Given the description of an element on the screen output the (x, y) to click on. 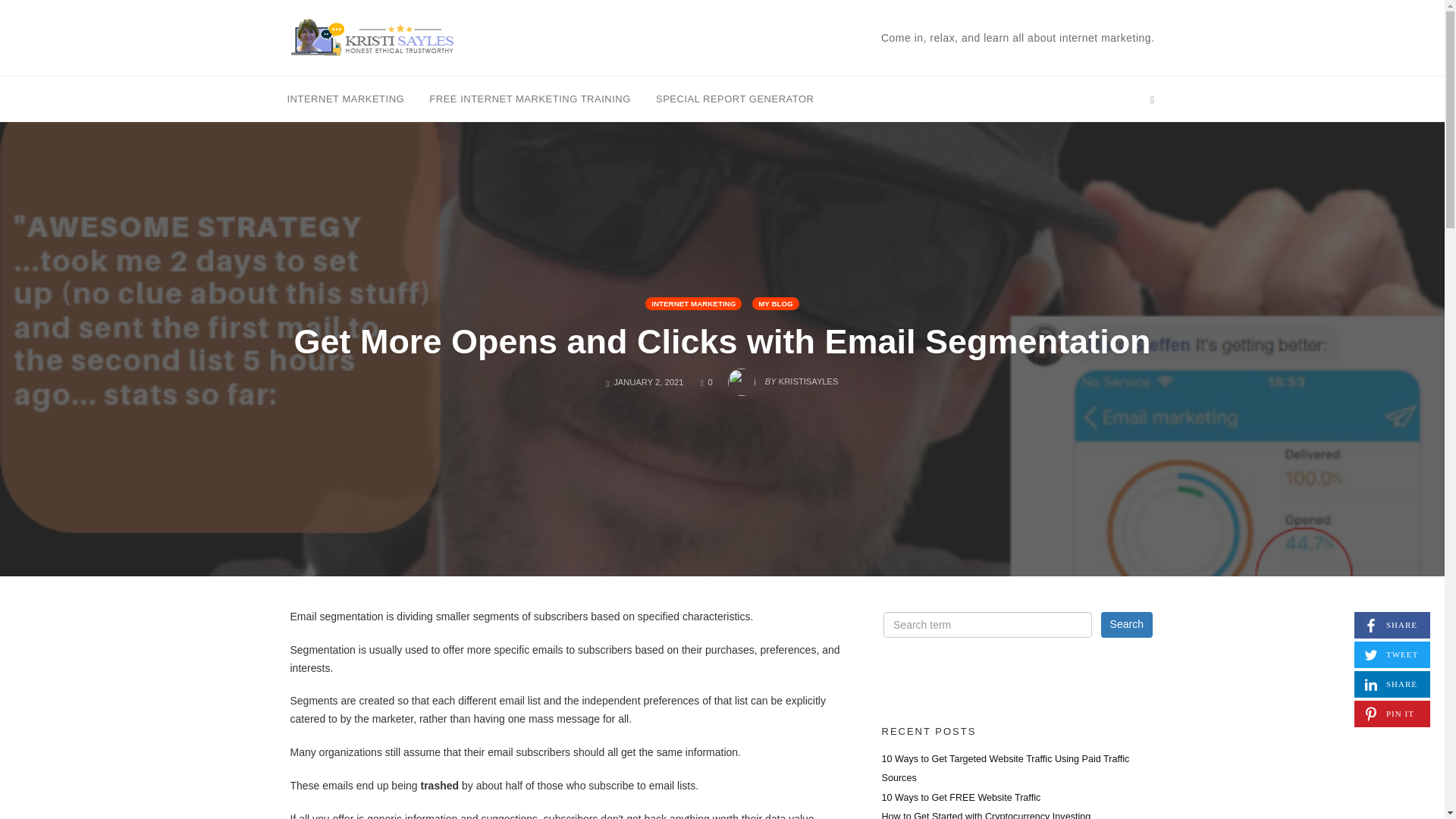
FREE INTERNET MARKETING TRAINING (529, 97)
Special Report Generator (734, 97)
MY BLOG (775, 303)
Come in, relax, and learn all about internet marketing. (1017, 37)
Search (1126, 624)
Internet Marketing (346, 97)
INTERNET MARKETING (693, 303)
Search (1391, 683)
INTERNET MARKETING (1391, 624)
SPECIAL REPORT GENERATOR (706, 381)
FREE Internet Marketing Training (1126, 624)
